Given the description of an element on the screen output the (x, y) to click on. 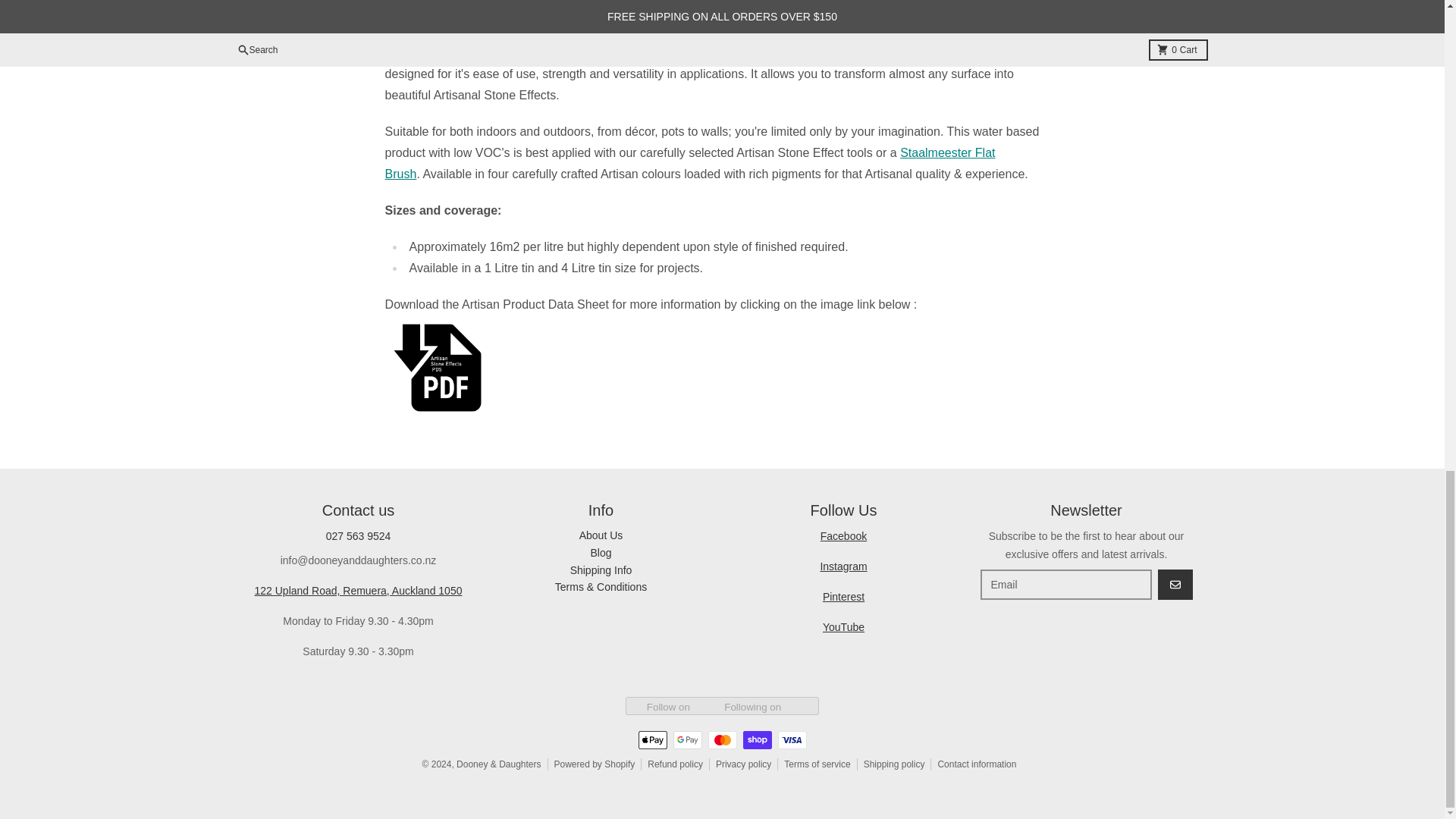
Stone Effects Product Info (722, 367)
Staalmeester Flat Brush (690, 163)
